Given the description of an element on the screen output the (x, y) to click on. 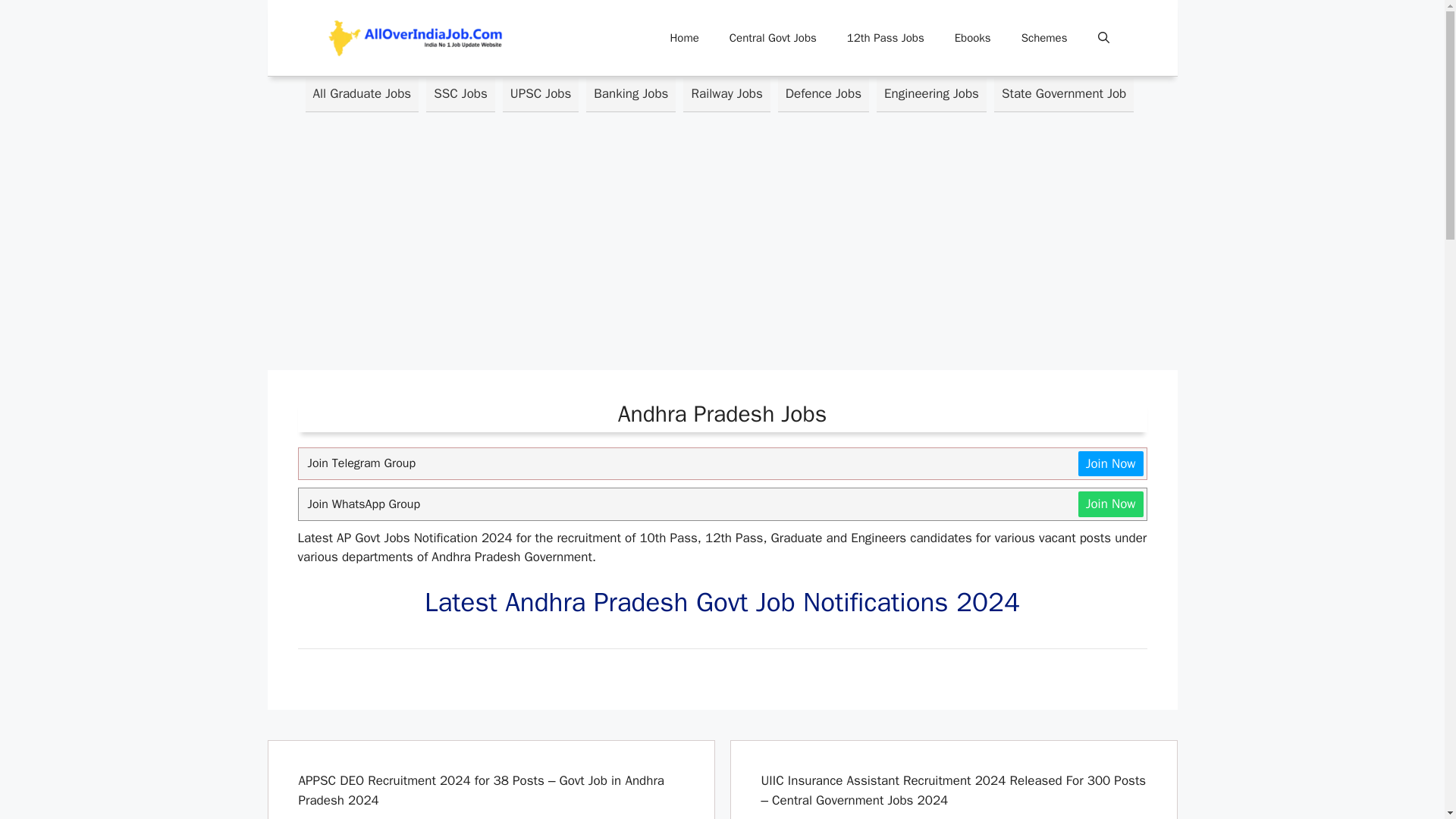
Central Govt Jobs (772, 37)
Banking Jobs (630, 94)
All Graduate Jobs (361, 94)
Home (683, 37)
State Government Job (1064, 94)
12th Pass Jobs (885, 37)
Join Now (1110, 462)
Join Now (1110, 503)
Engineering Jobs (931, 94)
Schemes (1044, 37)
Railway Jobs (726, 94)
Defence Jobs (823, 94)
Ebooks (972, 37)
UPSC Jobs (540, 94)
SSC Jobs (460, 94)
